Given the description of an element on the screen output the (x, y) to click on. 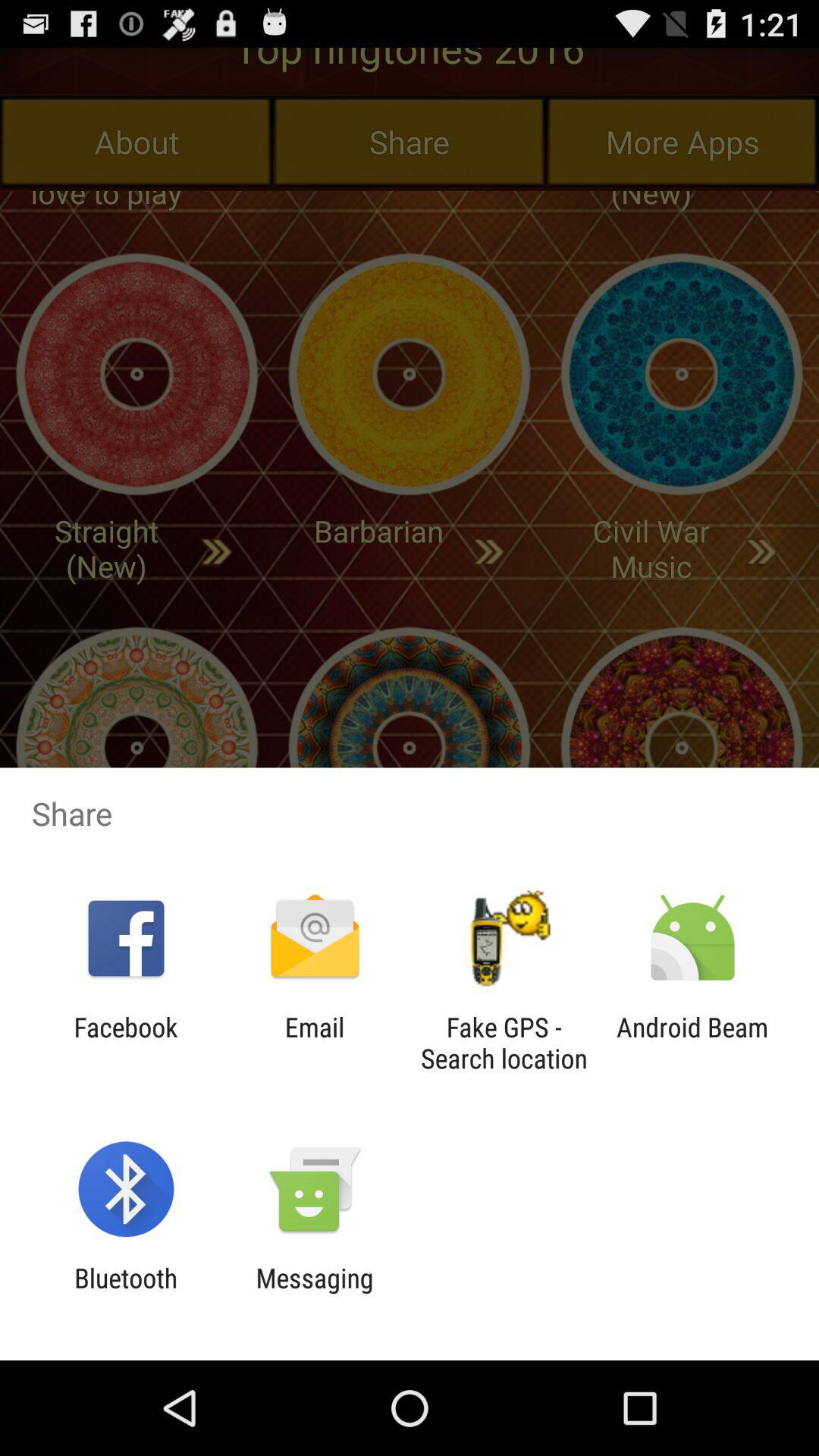
choose item next to fake gps search (692, 1042)
